Given the description of an element on the screen output the (x, y) to click on. 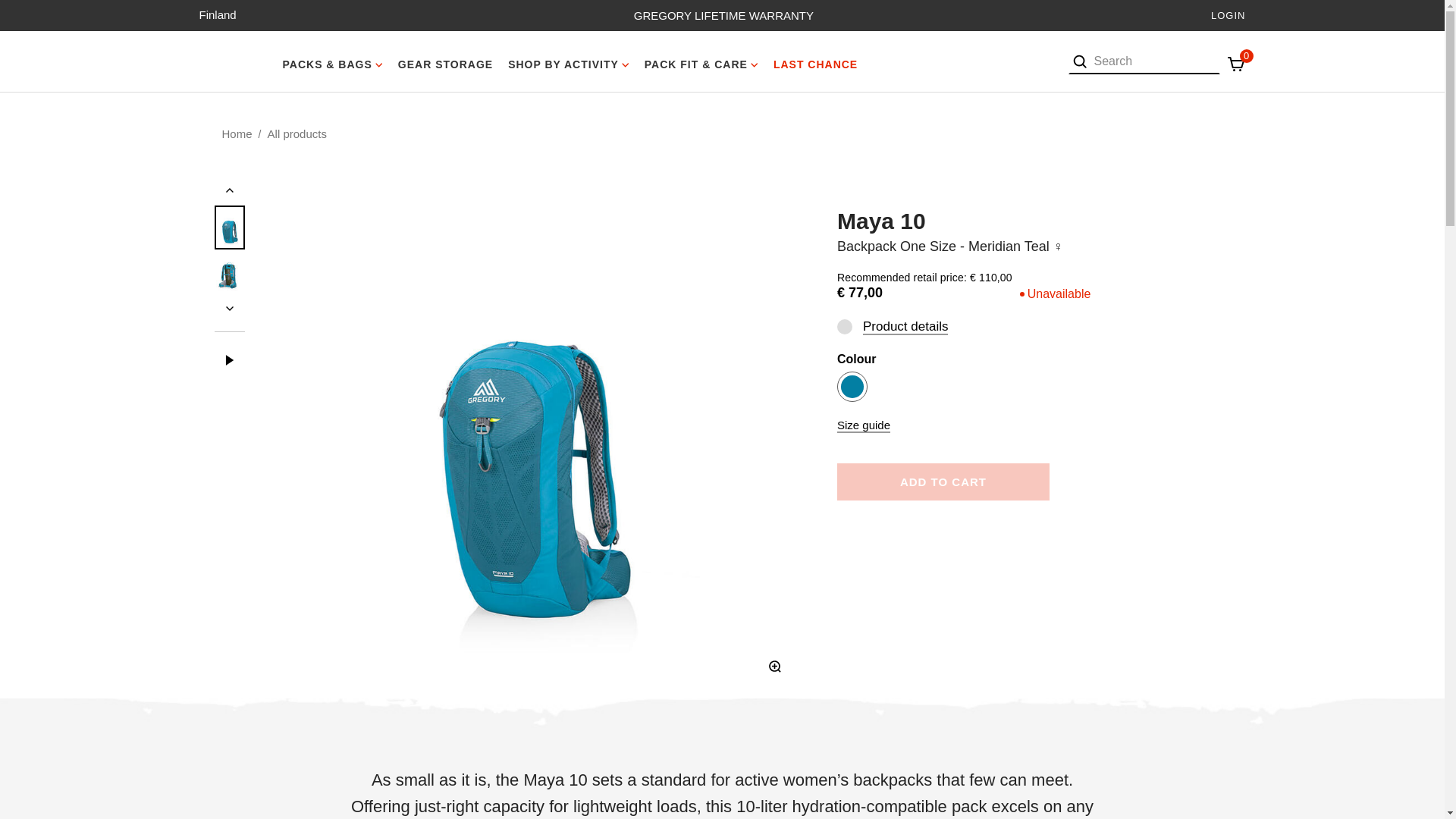
LOGIN (1227, 15)
SHOP BY ACTIVITY (568, 61)
Meridian Teal (852, 386)
Meridian Teal (852, 386)
details (844, 326)
GEAR STORAGE (445, 61)
Gregory (232, 61)
